Given the description of an element on the screen output the (x, y) to click on. 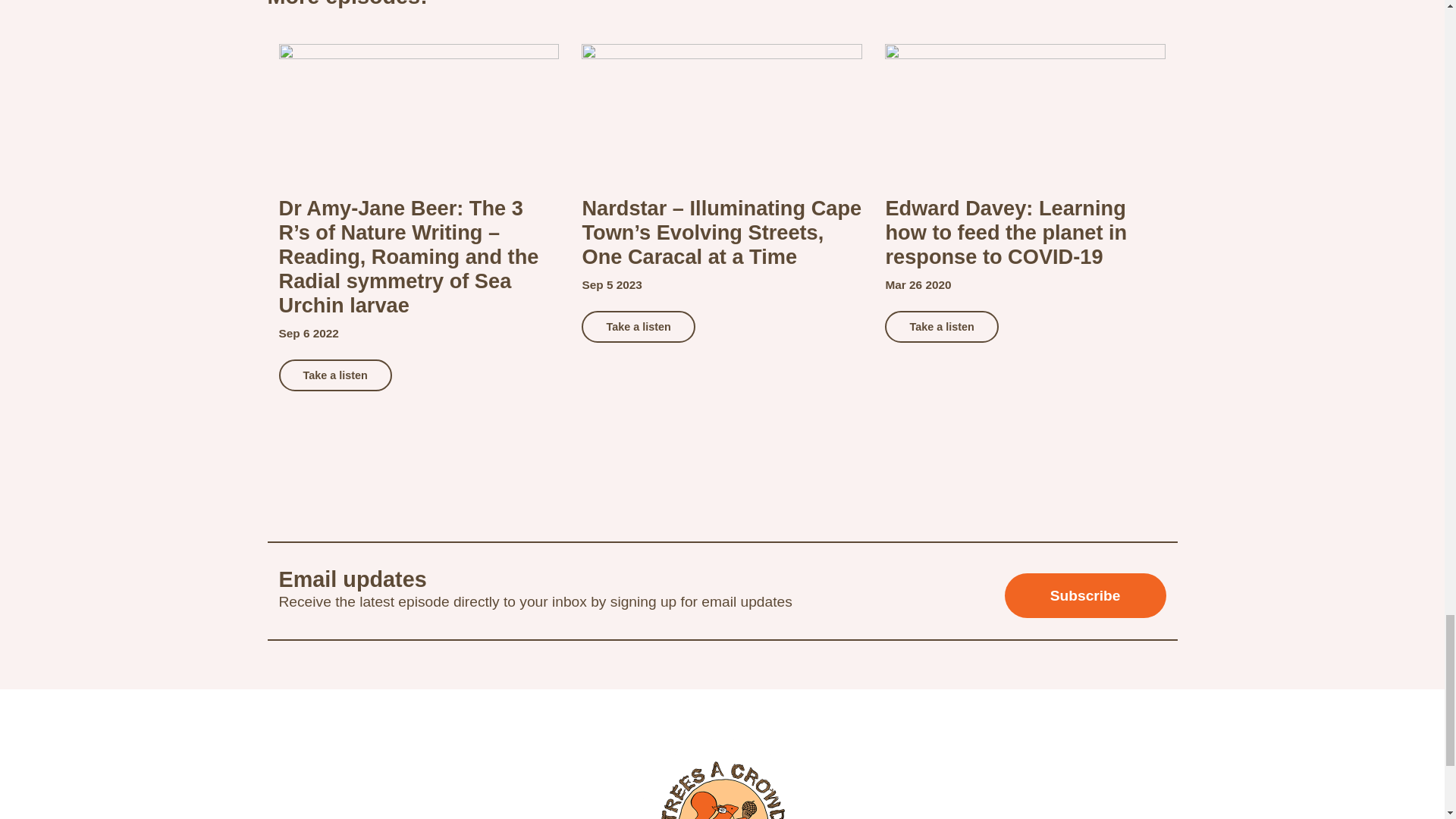
Take a listen (941, 326)
Take a listen (941, 327)
Take a listen (637, 326)
Subscribe (1085, 595)
Take a listen (637, 327)
Subscribe (1085, 595)
Take a listen (335, 374)
Take a listen (335, 375)
